Given the description of an element on the screen output the (x, y) to click on. 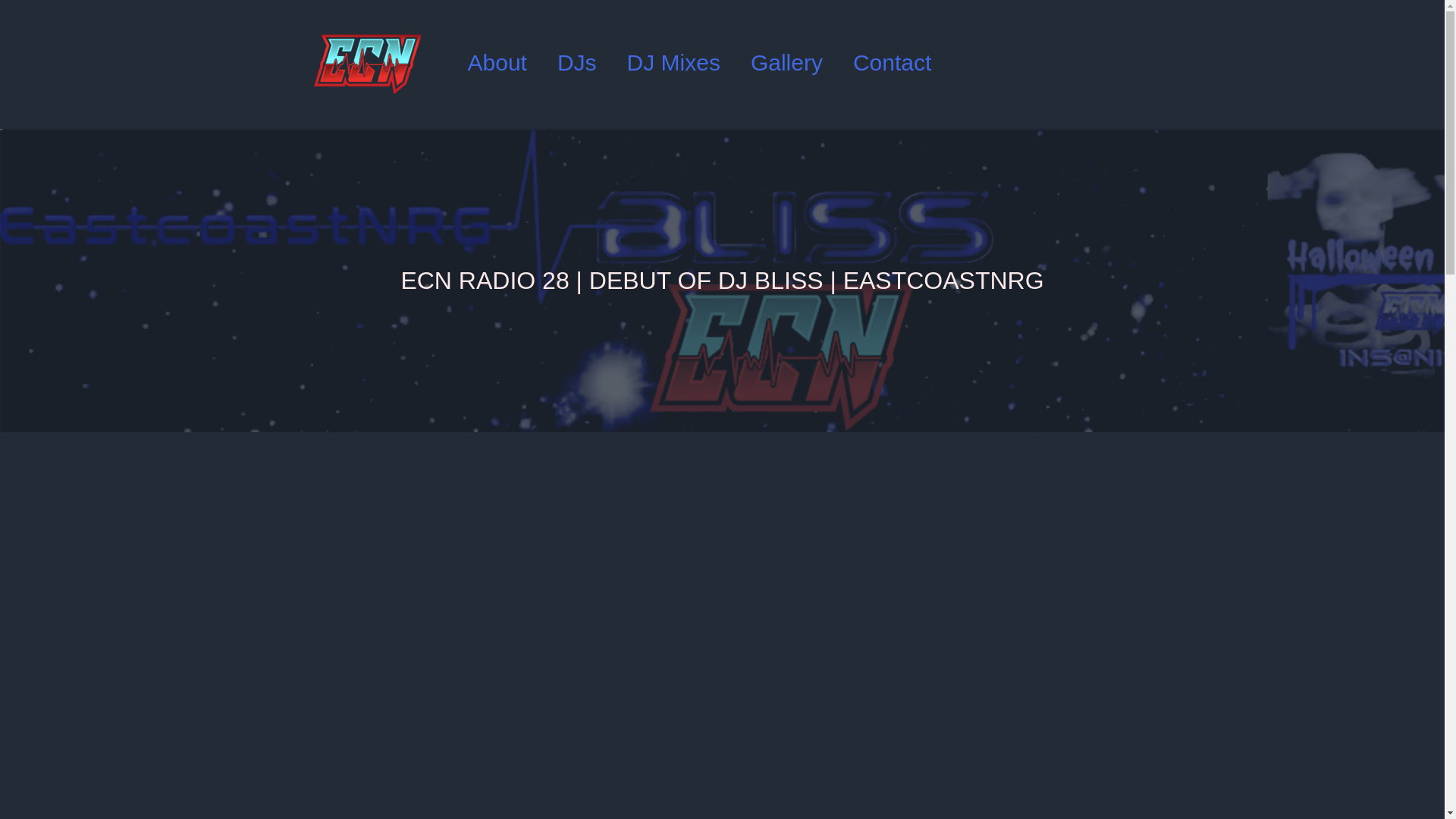
About (496, 62)
DJ Mixes (673, 62)
Contact (892, 62)
DJs (576, 62)
Gallery (786, 62)
